Given the description of an element on the screen output the (x, y) to click on. 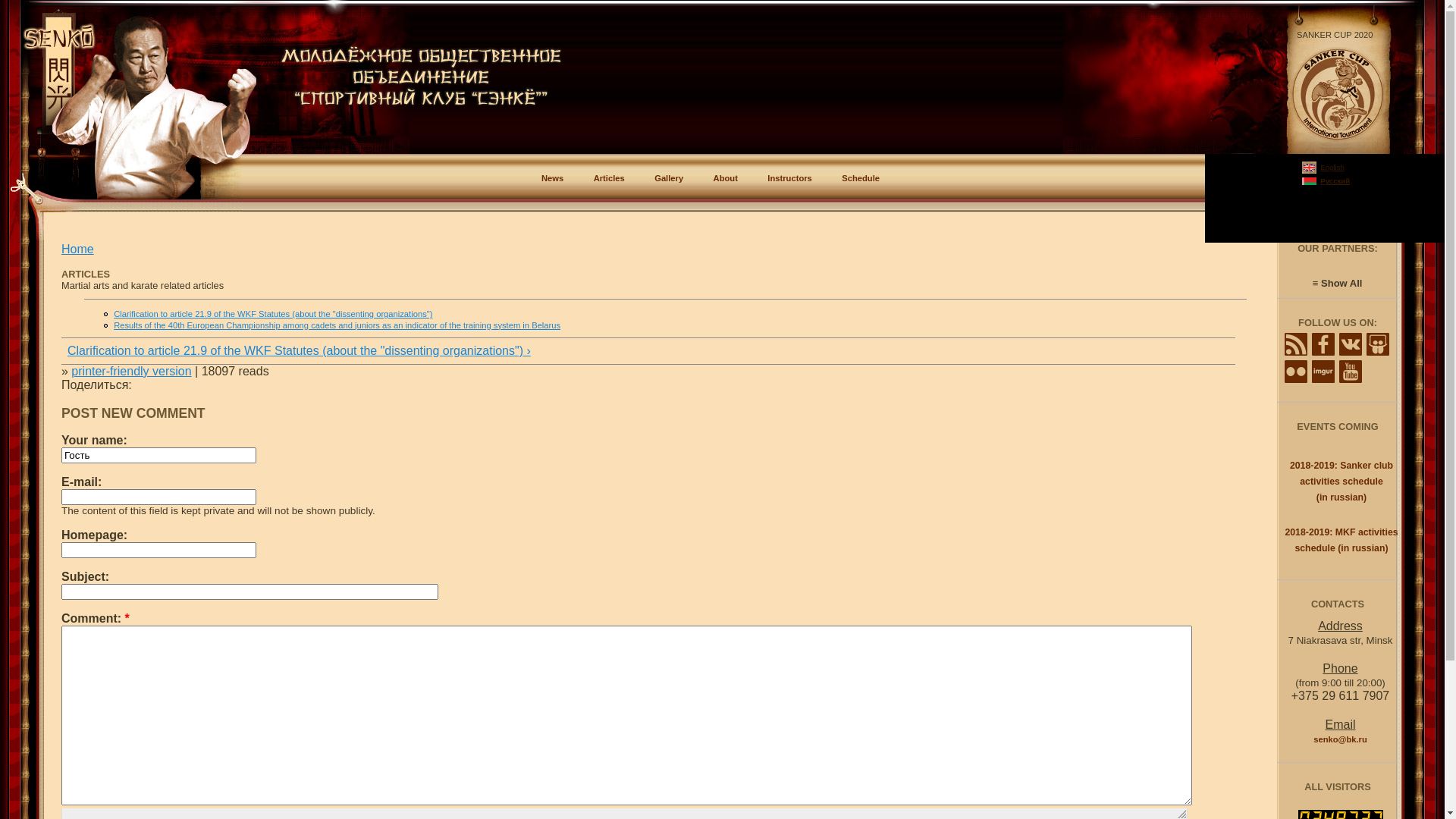
Instructors Element type: text (789, 177)
Schedule Element type: text (860, 177)
Home Element type: text (77, 248)
RSS Element type: hover (1295, 343)
Facebook Element type: hover (1322, 343)
About Element type: text (725, 177)
Articles Element type: text (608, 177)
SANKER CUP 2020 Element type: text (1334, 34)
2018-2019: MKF activities schedule (in russian) Element type: text (1340, 540)
Gallery Element type: text (668, 177)
YouTube Element type: hover (1350, 370)
Imgur Element type: hover (1322, 370)
senko@bk.ru Element type: text (1340, 738)
Slideshare Element type: hover (1377, 343)
Flickr Element type: hover (1295, 370)
2018-2019: Sanker club activities schedule
(in russian) Element type: text (1341, 481)
News Element type: text (552, 177)
SANKER CUP 2020 Element type: hover (1337, 94)
printer-friendly version Element type: text (131, 370)
English Element type: text (1331, 167)
